Given the description of an element on the screen output the (x, y) to click on. 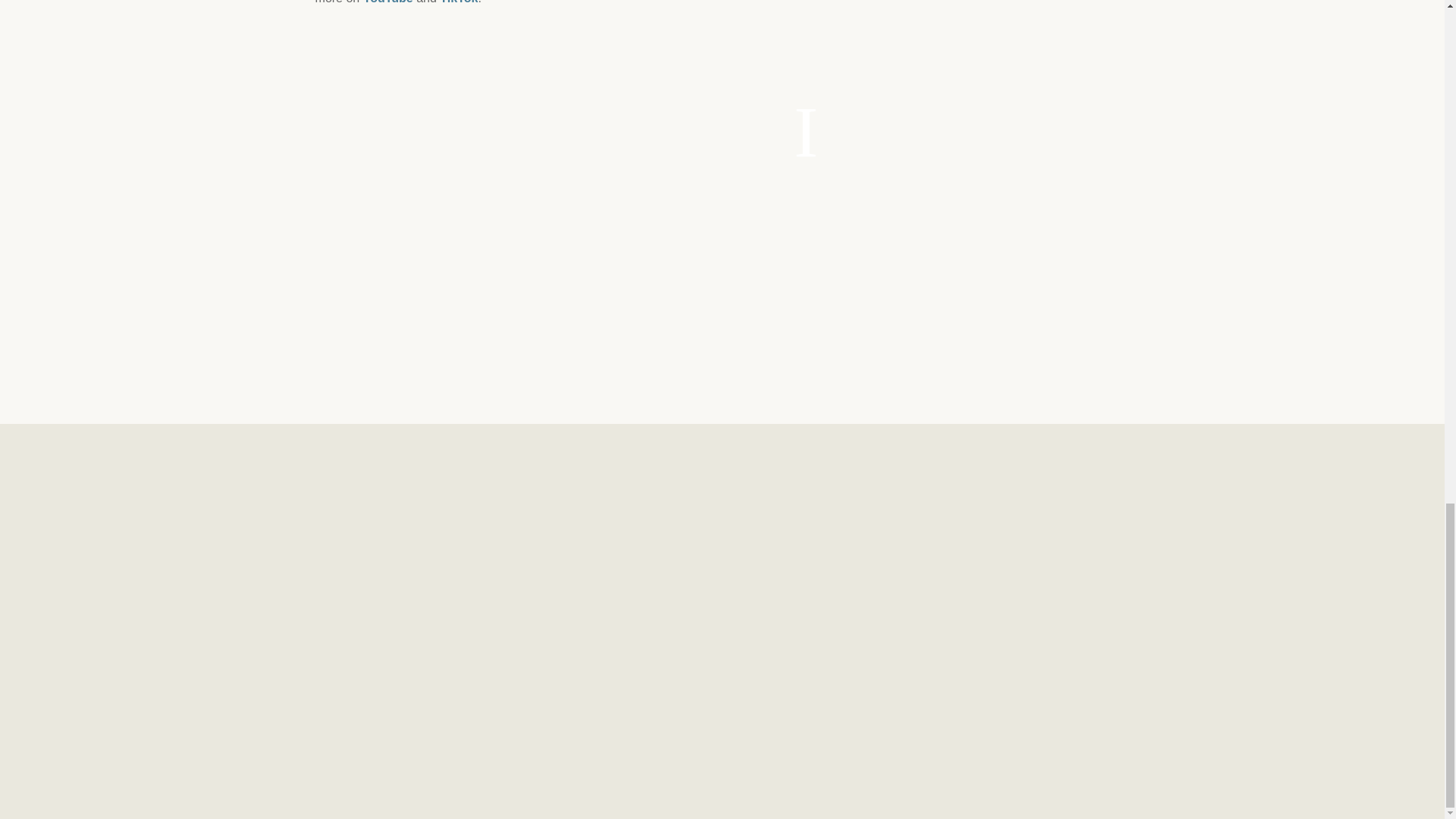
TikTok (458, 2)
YouTube (387, 2)
